Given the description of an element on the screen output the (x, y) to click on. 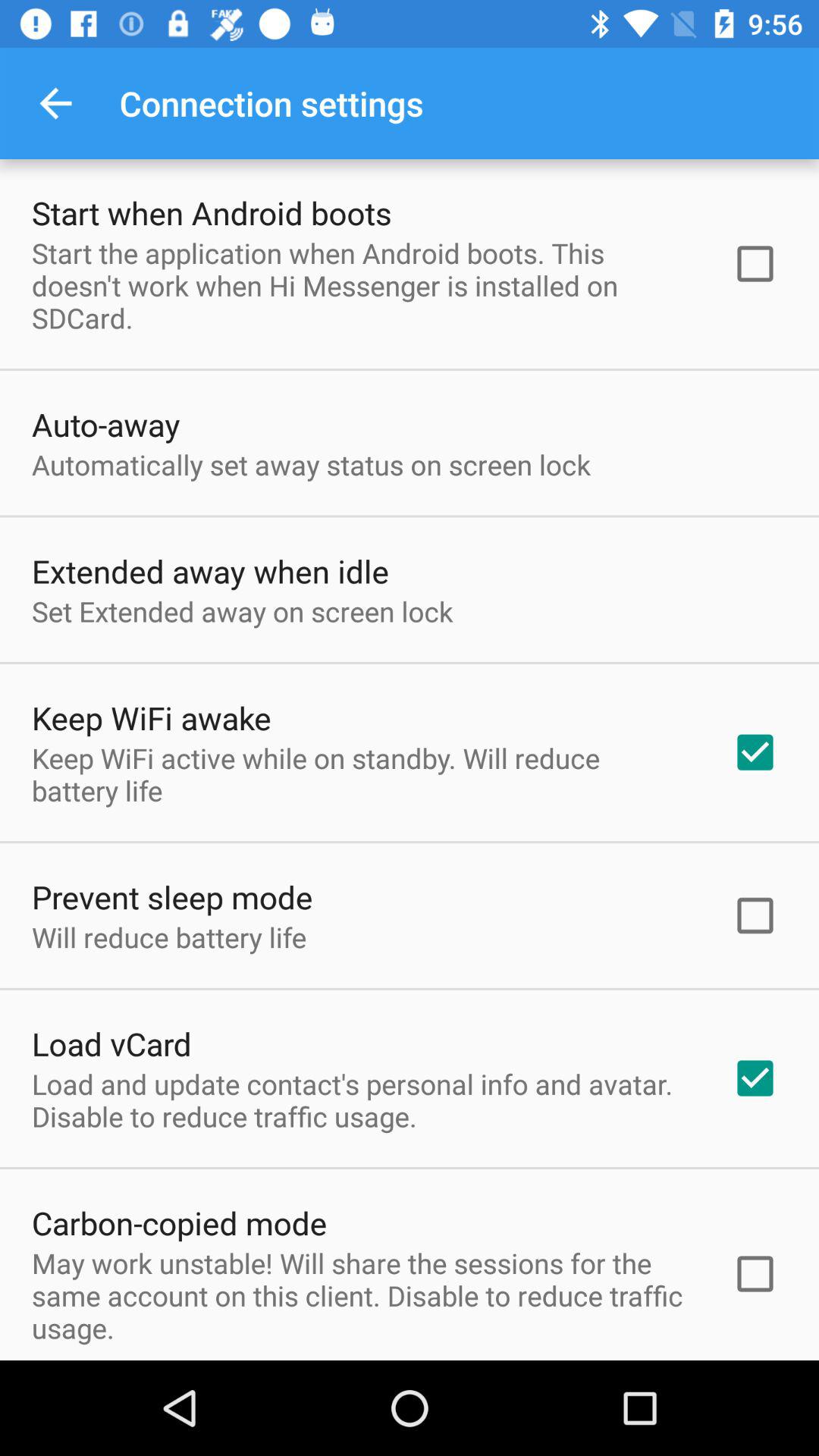
launch the app next to connection settings (55, 103)
